Given the description of an element on the screen output the (x, y) to click on. 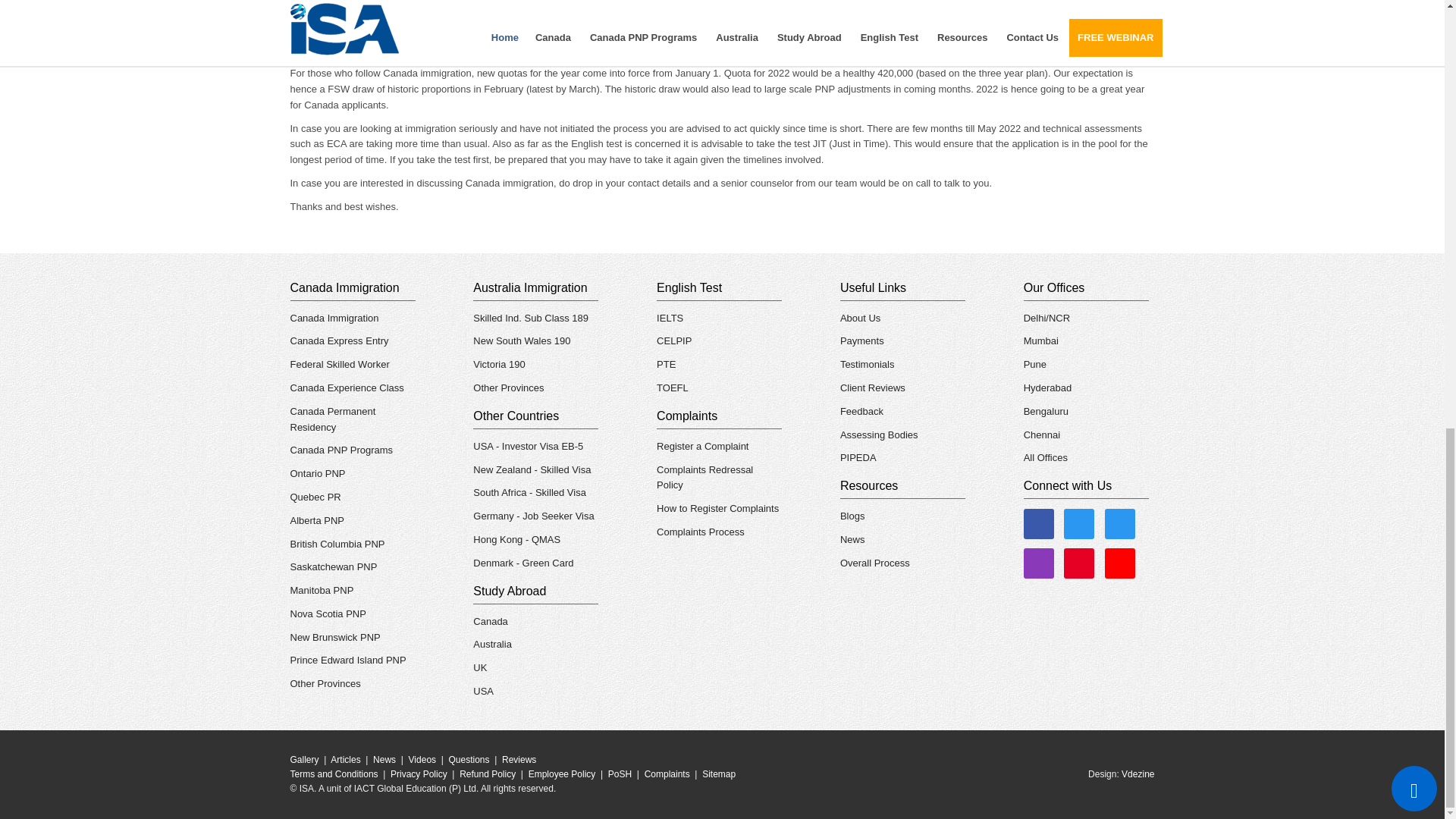
ISA Global Pinterest (1079, 562)
ISA Global Facebook (1038, 523)
ISA Global Youtube (1120, 562)
ISA Global Linkedin (1079, 523)
ISA Global Twitter (1120, 523)
ISA Global Instagram (1038, 562)
